Given the description of an element on the screen output the (x, y) to click on. 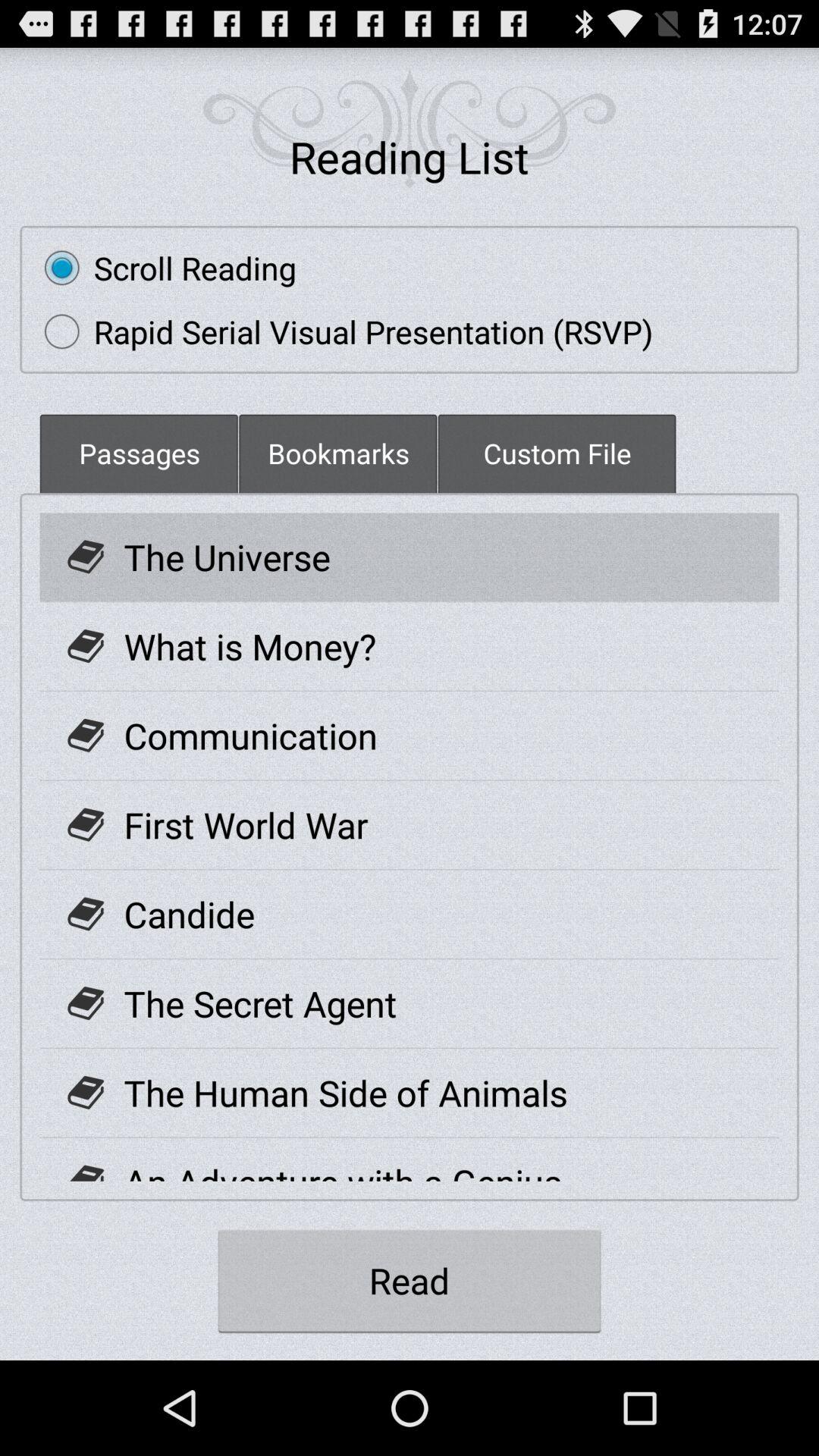
turn off rapid serial visual icon (341, 331)
